Given the description of an element on the screen output the (x, y) to click on. 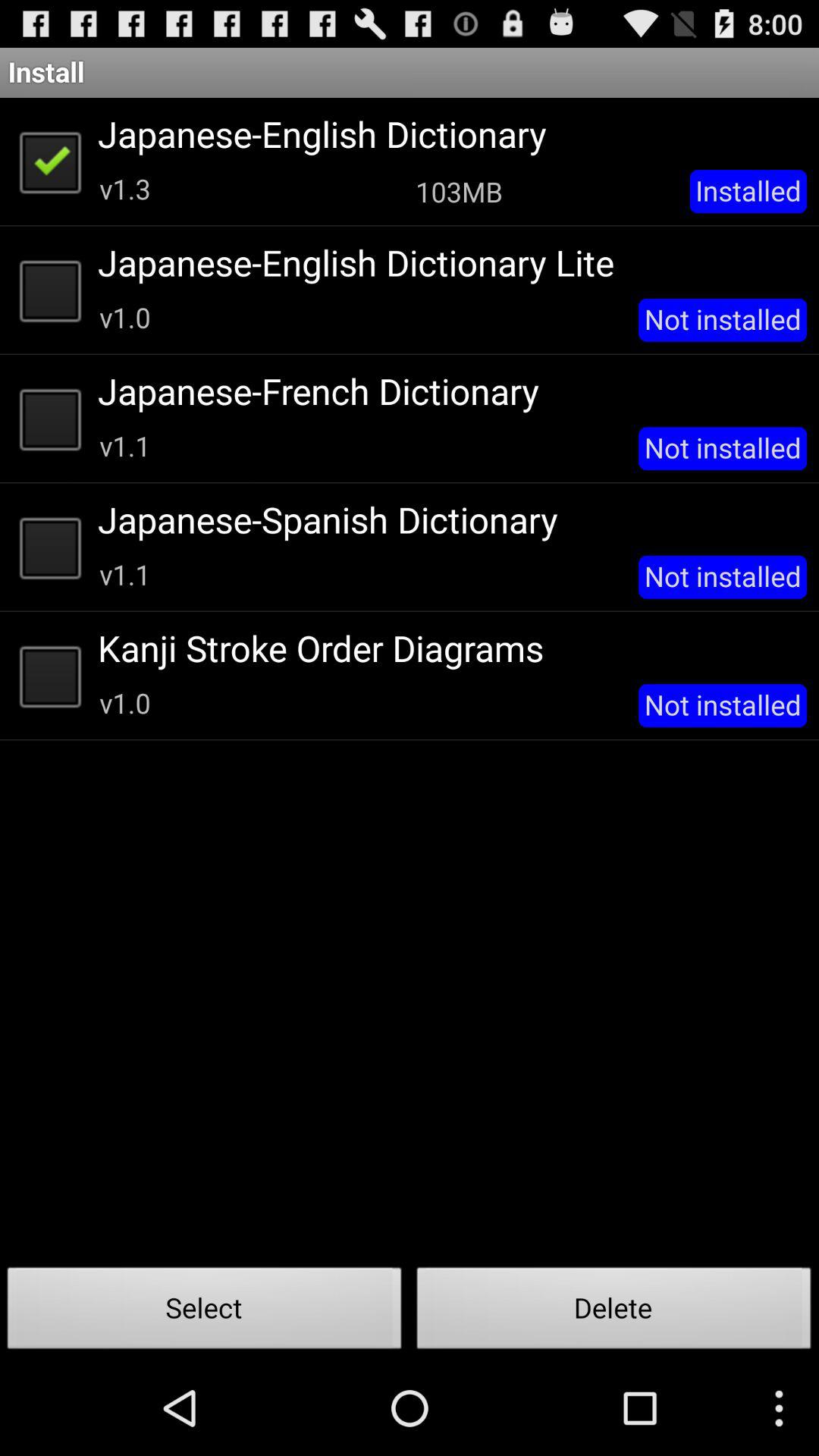
tap the item next to the installed app (458, 191)
